Given the description of an element on the screen output the (x, y) to click on. 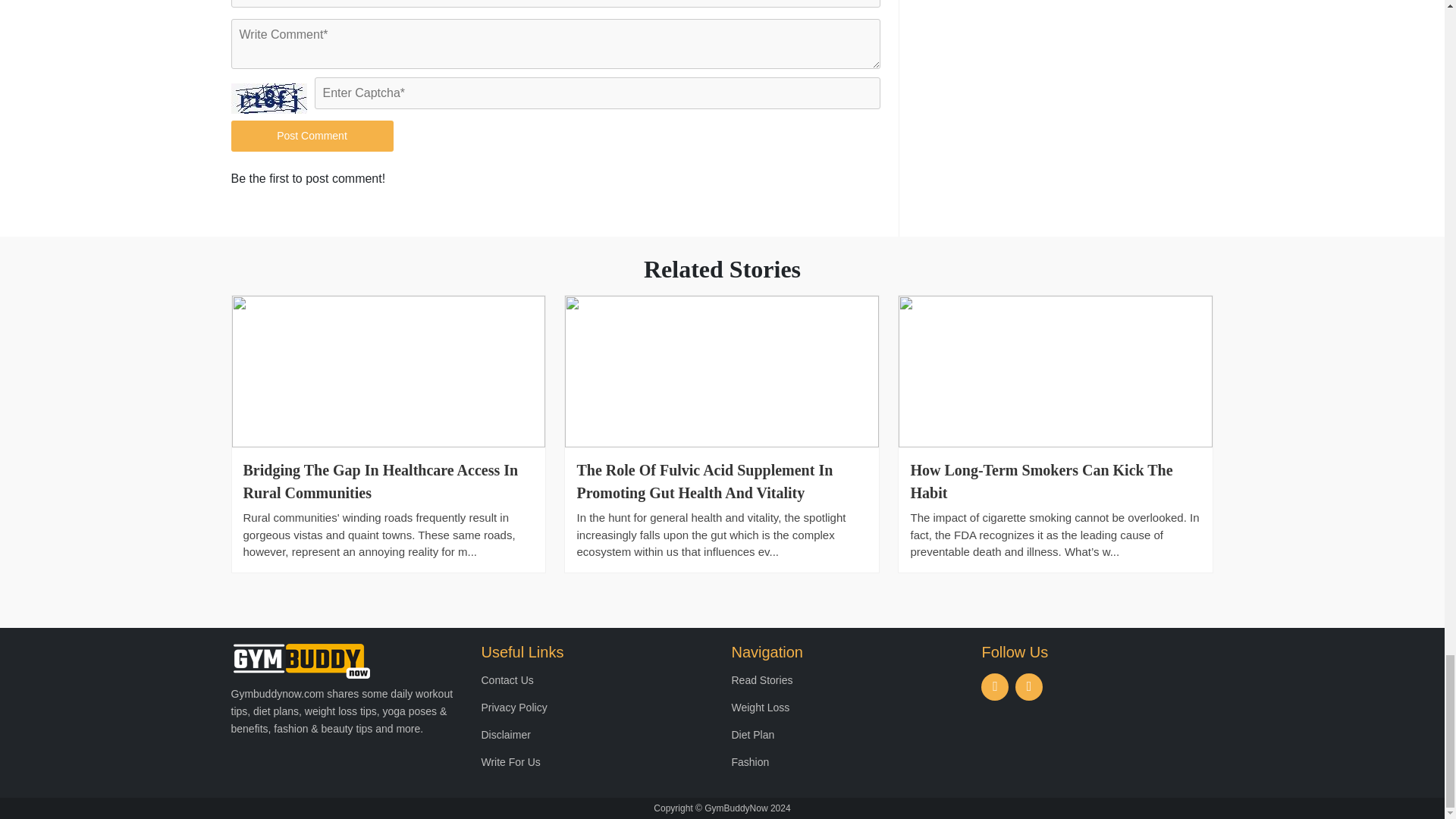
Post Comment (311, 135)
Read Stories (761, 680)
Privacy Policy (513, 707)
Disclaimer (504, 734)
Write For Us (510, 761)
Weight Loss (759, 707)
Fashion (749, 761)
Contact Us (506, 680)
